Given the description of an element on the screen output the (x, y) to click on. 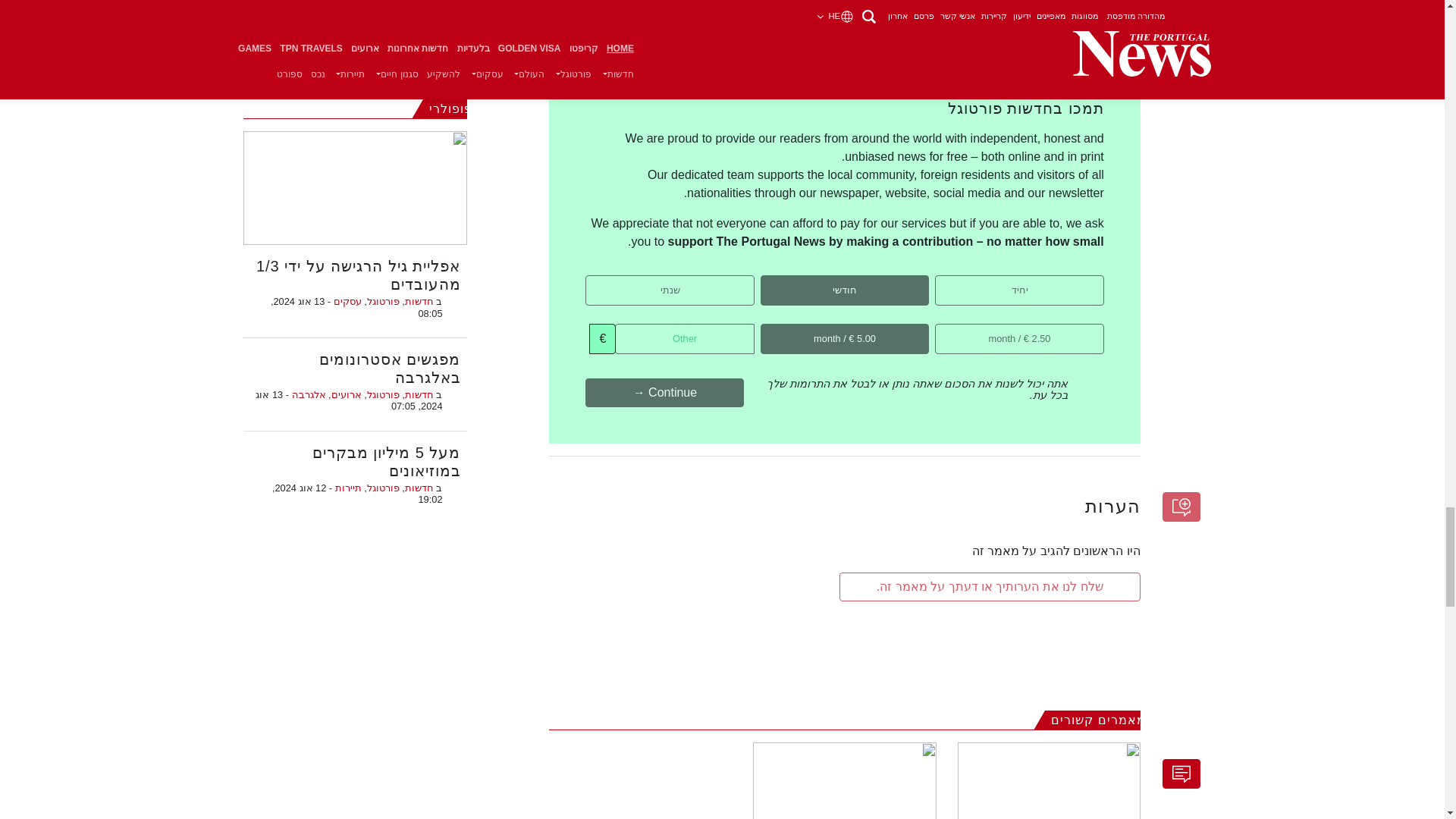
single (1098, 280)
P-6T2758016F920900CMGGQYMQ (923, 280)
2.5 (1098, 328)
P-18662245734186221MGVD6SI (749, 280)
5 (923, 328)
